Given the description of an element on the screen output the (x, y) to click on. 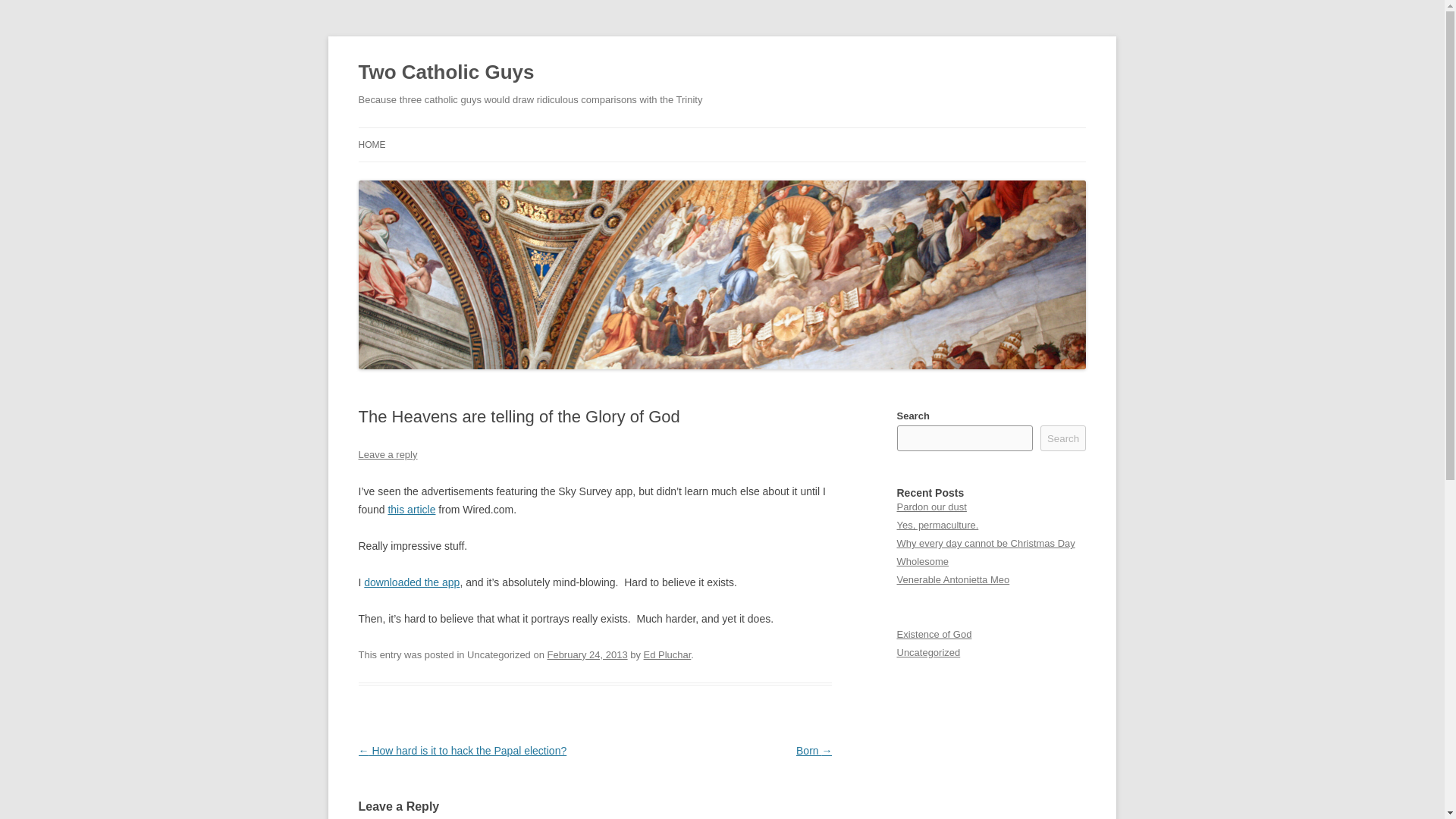
Leave a reply (387, 454)
this article (411, 509)
10:17 pm (587, 654)
Ed Pluchar (667, 654)
Venerable Antonietta Meo (952, 579)
HOME (371, 144)
Two Catholic Guys (446, 72)
Yes, permaculture. (937, 524)
Uncategorized (927, 652)
downloaded the app (412, 582)
Search (1063, 438)
February 24, 2013 (587, 654)
View all posts by Ed Pluchar (667, 654)
Pardon our dust (931, 506)
Existence of God (933, 633)
